Given the description of an element on the screen output the (x, y) to click on. 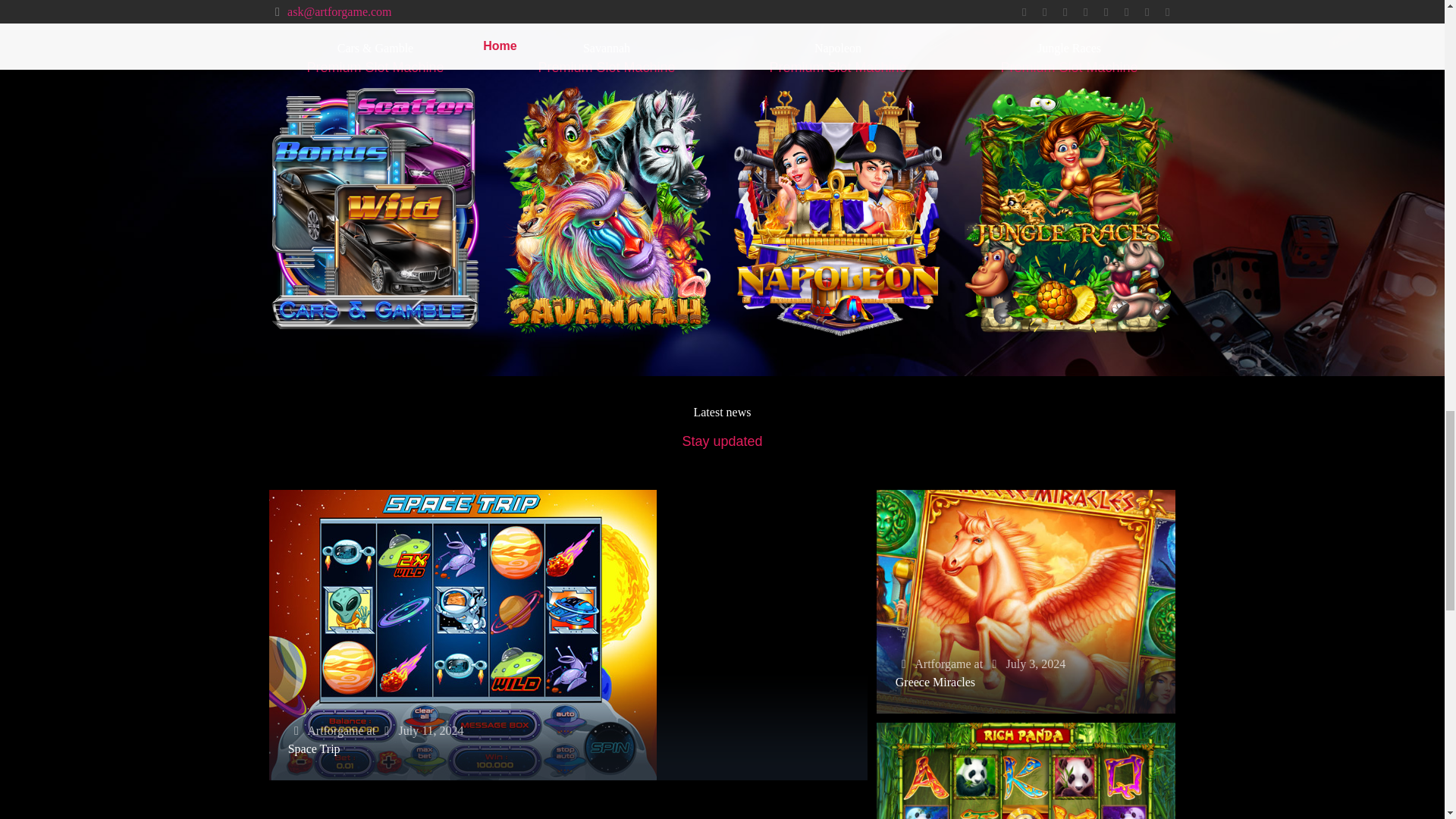
napoleon (837, 214)
cars-and-gamble (374, 214)
jungle races (1068, 214)
savannah (606, 214)
